Given the description of an element on the screen output the (x, y) to click on. 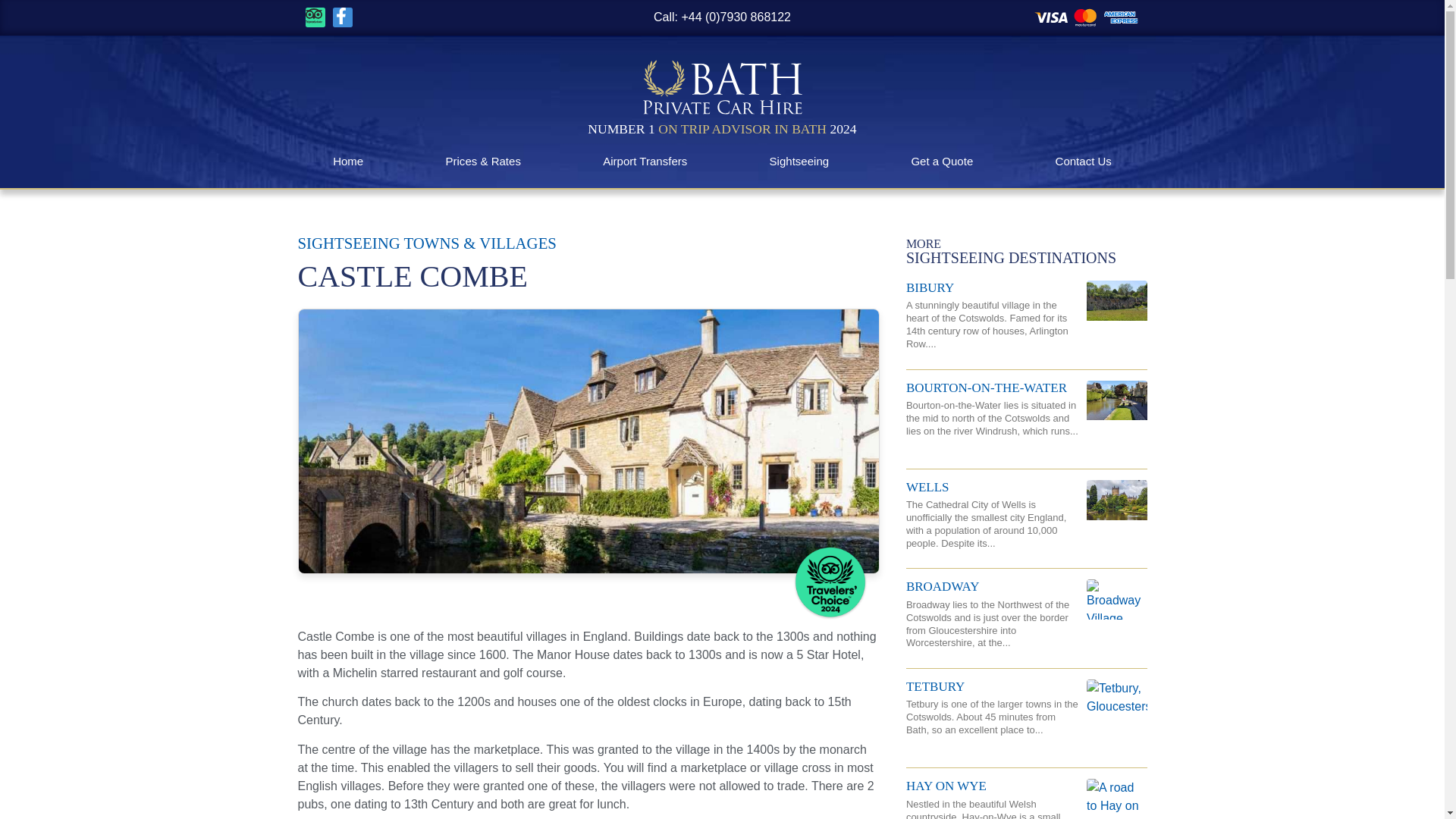
WELLS (927, 486)
BROADWAY (942, 586)
Sightseeing (798, 160)
Get a Quote (942, 160)
Home (347, 160)
BOURTON-ON-THE-WATER (986, 387)
Contact Us (1083, 160)
NUMBER 1 ON TRIP ADVISOR IN BATH 2024 (722, 128)
Airport Transfers (644, 160)
Card-logos-01 (1086, 17)
